Given the description of an element on the screen output the (x, y) to click on. 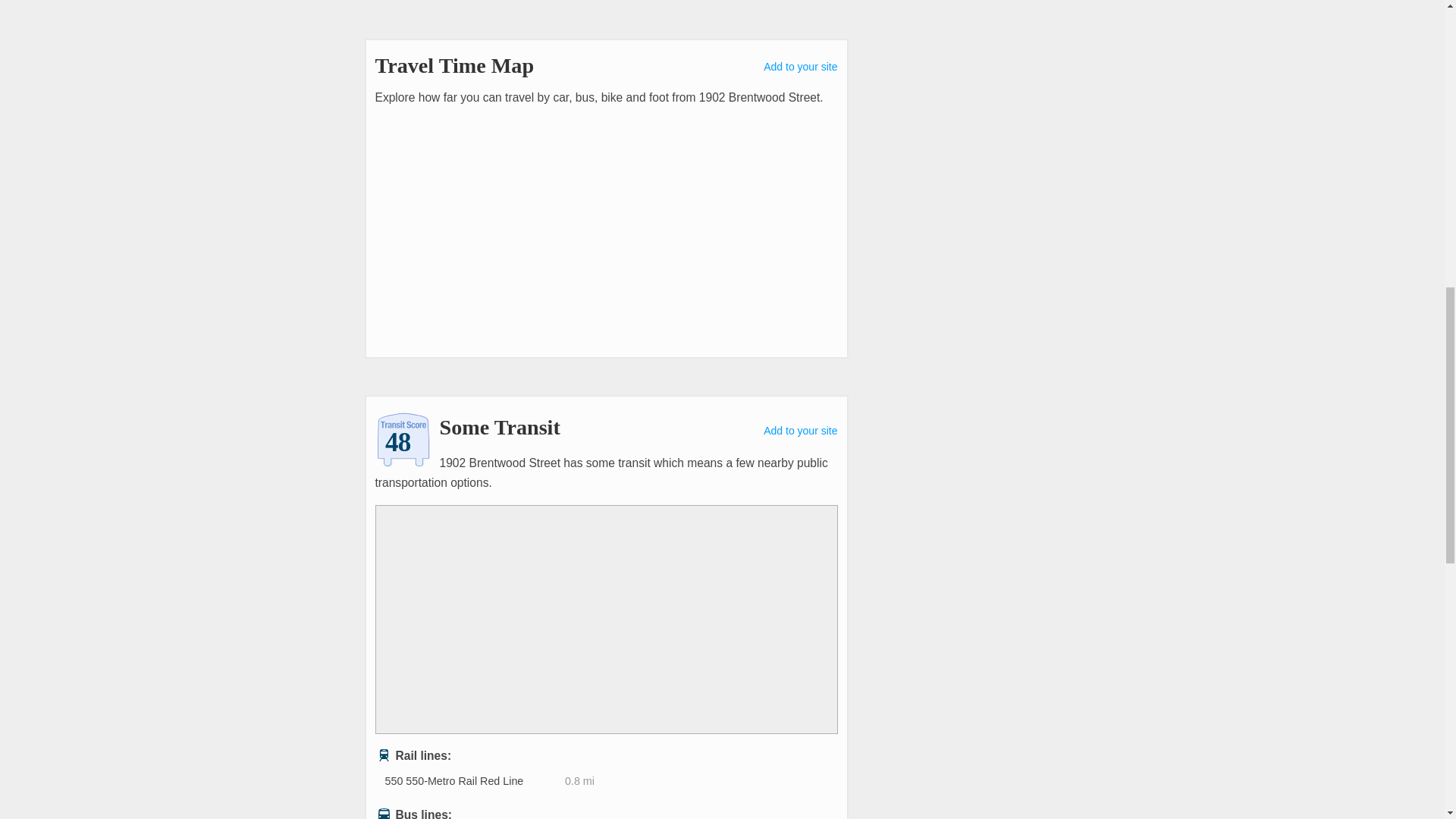
Add to your site (799, 66)
Add to your site (799, 430)
